Given the description of an element on the screen output the (x, y) to click on. 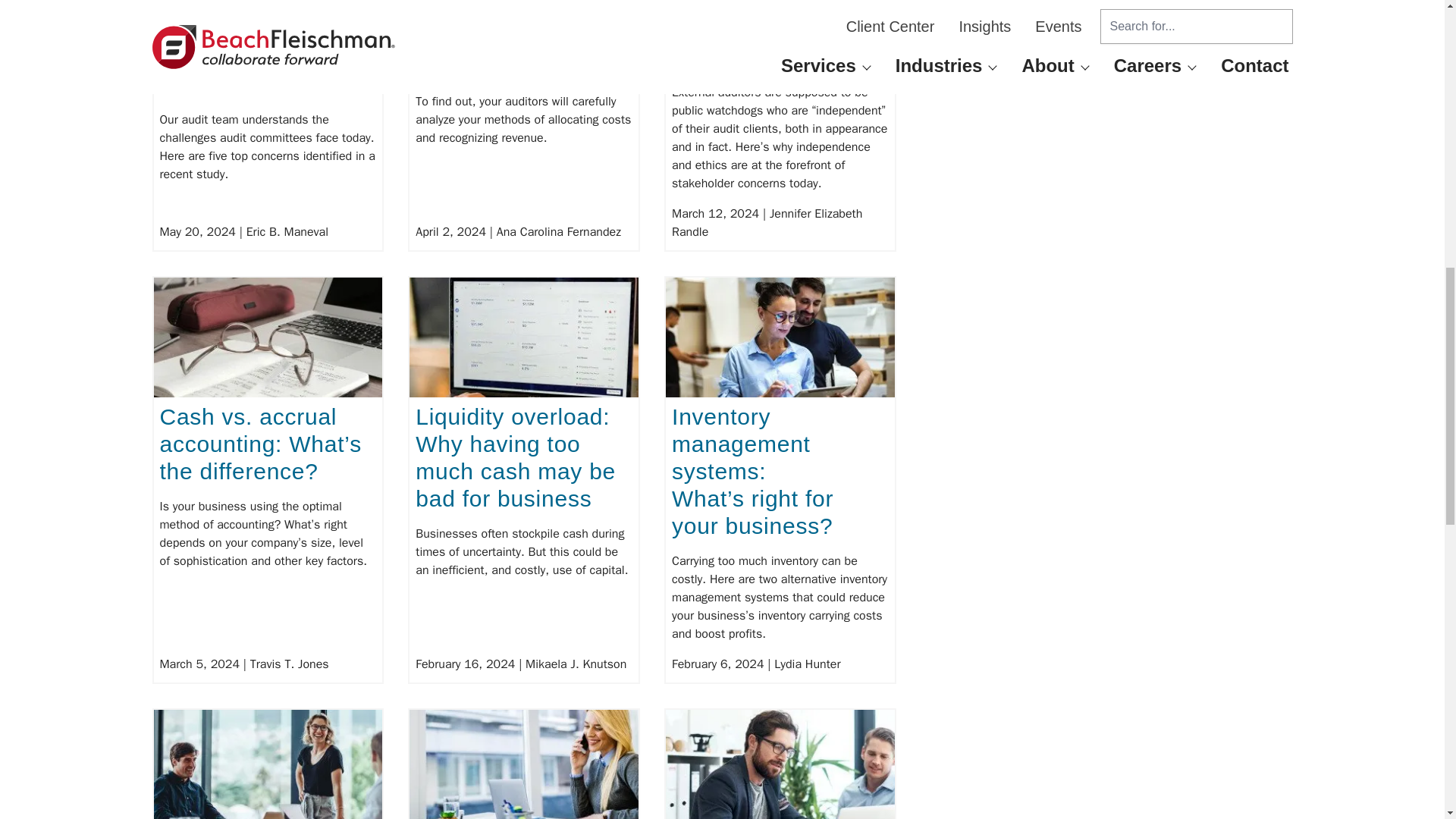
Posts by Mikaela J. Knutson (575, 664)
Posts by Ana Carolina Fernandez (558, 231)
Posts by Jennifer Elizabeth Randle (766, 222)
Posts by Lydia Hunter (807, 664)
Posts by Eric B. Maneval (287, 231)
Posts by Travis T. Jones (289, 664)
